Given the description of an element on the screen output the (x, y) to click on. 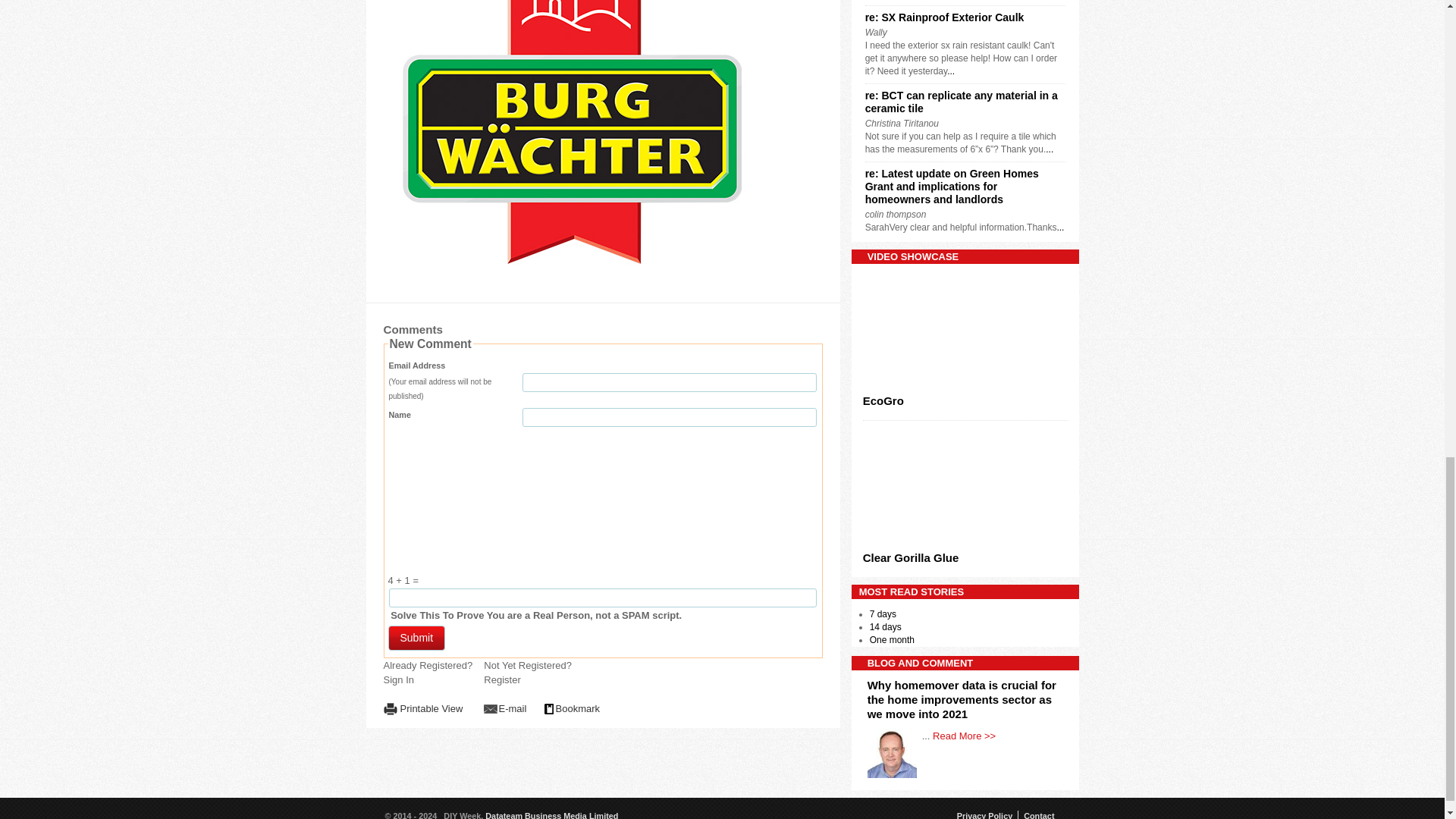
Printable View (426, 709)
Bookmark (572, 709)
Sign In (398, 679)
E-mail (506, 709)
Submit (416, 637)
Submit (416, 637)
Burg-Wachter UK Limited (571, 140)
Register (501, 679)
